Given the description of an element on the screen output the (x, y) to click on. 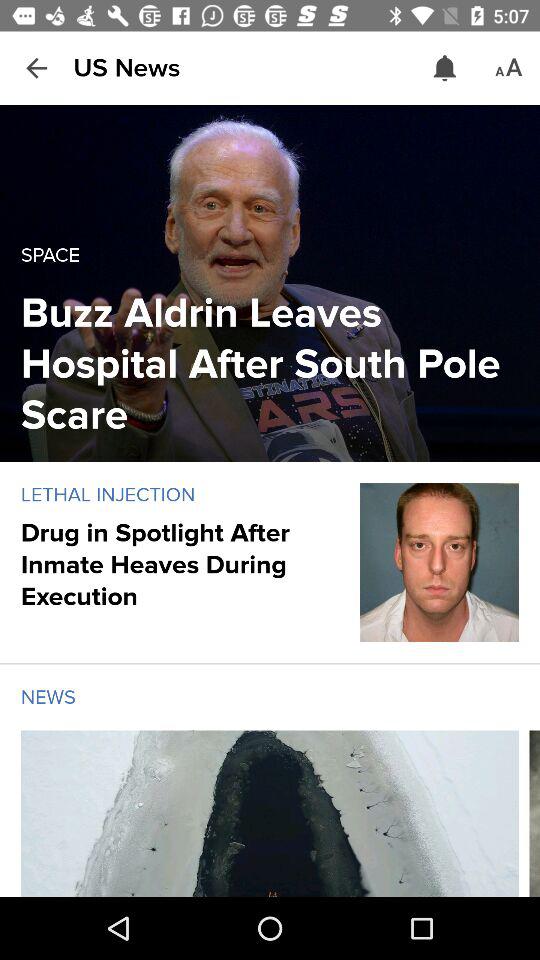
this is news image (270, 813)
